Given the description of an element on the screen output the (x, y) to click on. 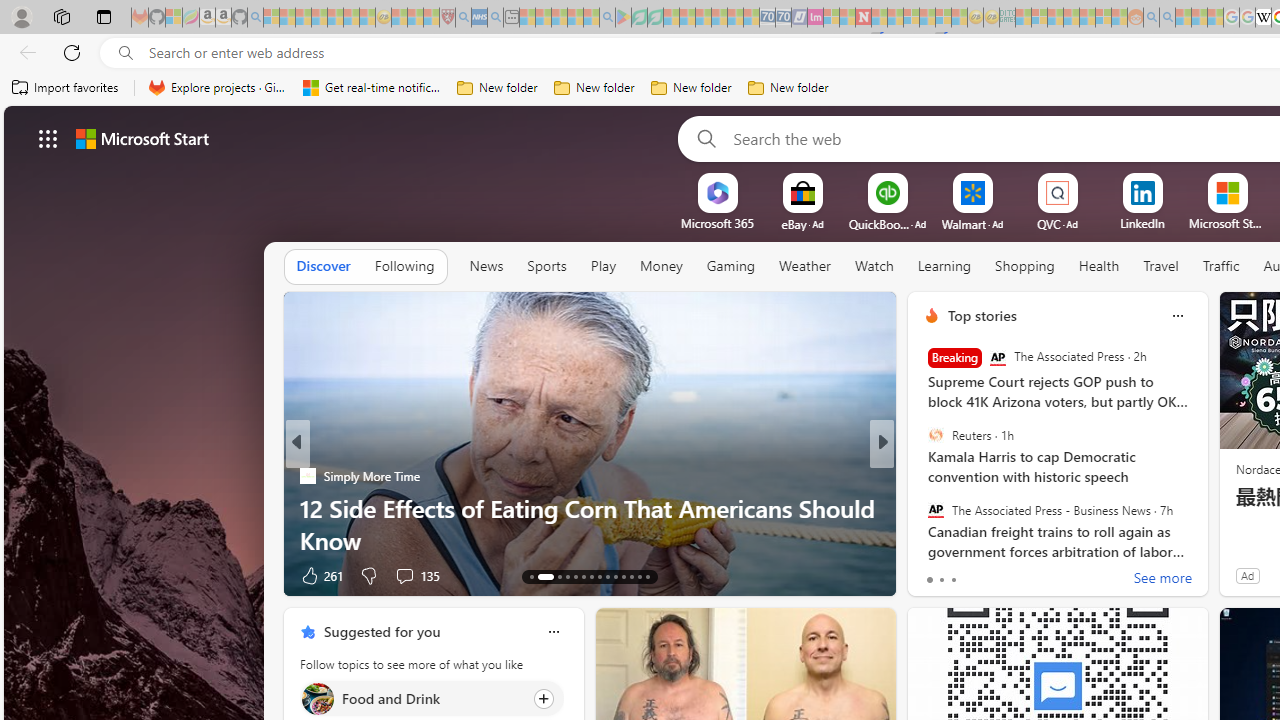
28 Like (934, 574)
Sports (546, 267)
AutomationID: tab-15 (553, 576)
Gaming (730, 265)
Click to follow topic Food and Drink (431, 698)
Health (1099, 265)
Shopping (1025, 265)
Dislike (978, 574)
Weather (804, 267)
